Given the description of an element on the screen output the (x, y) to click on. 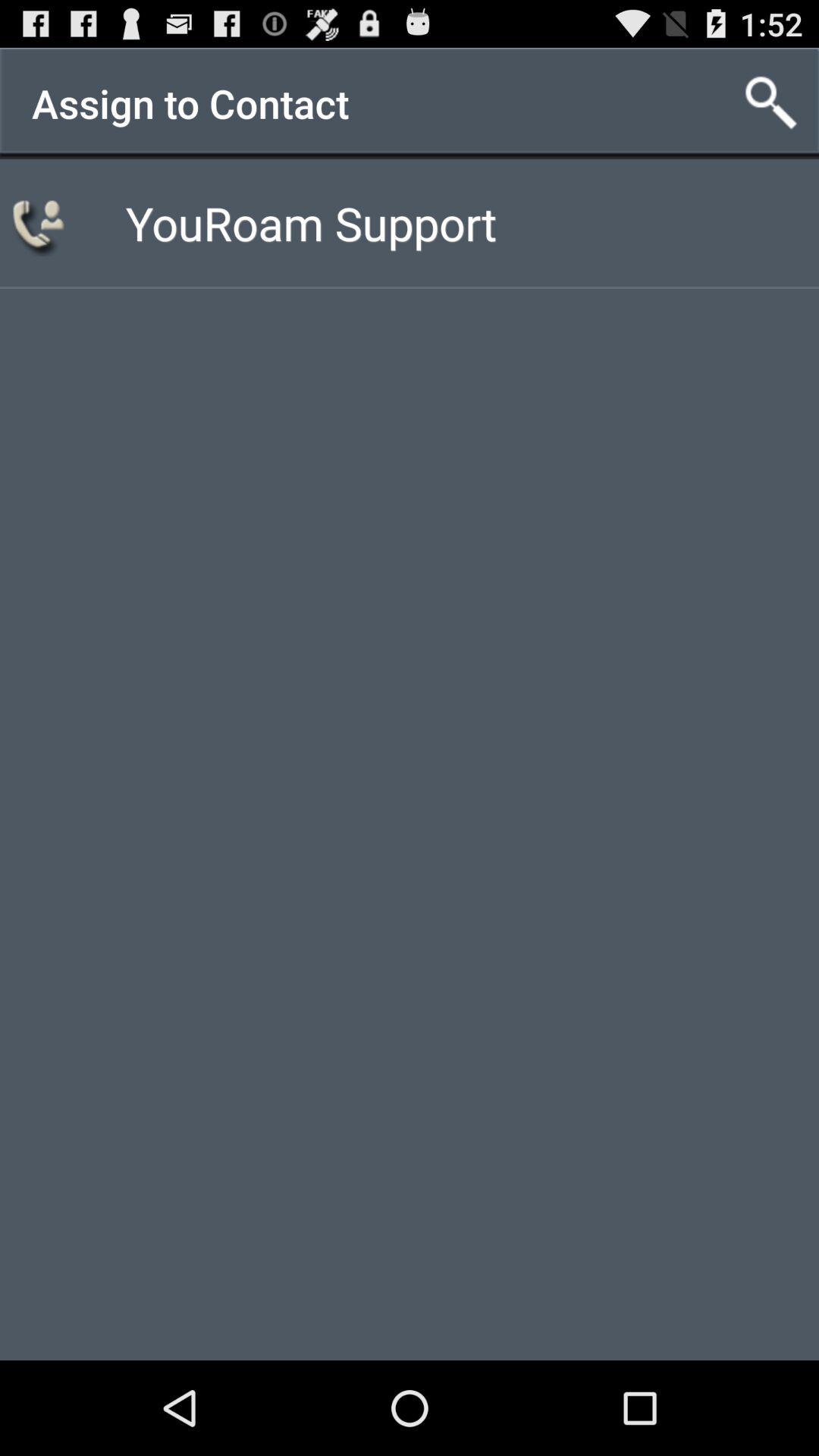
press the icon next to youroam support app (40, 222)
